Given the description of an element on the screen output the (x, y) to click on. 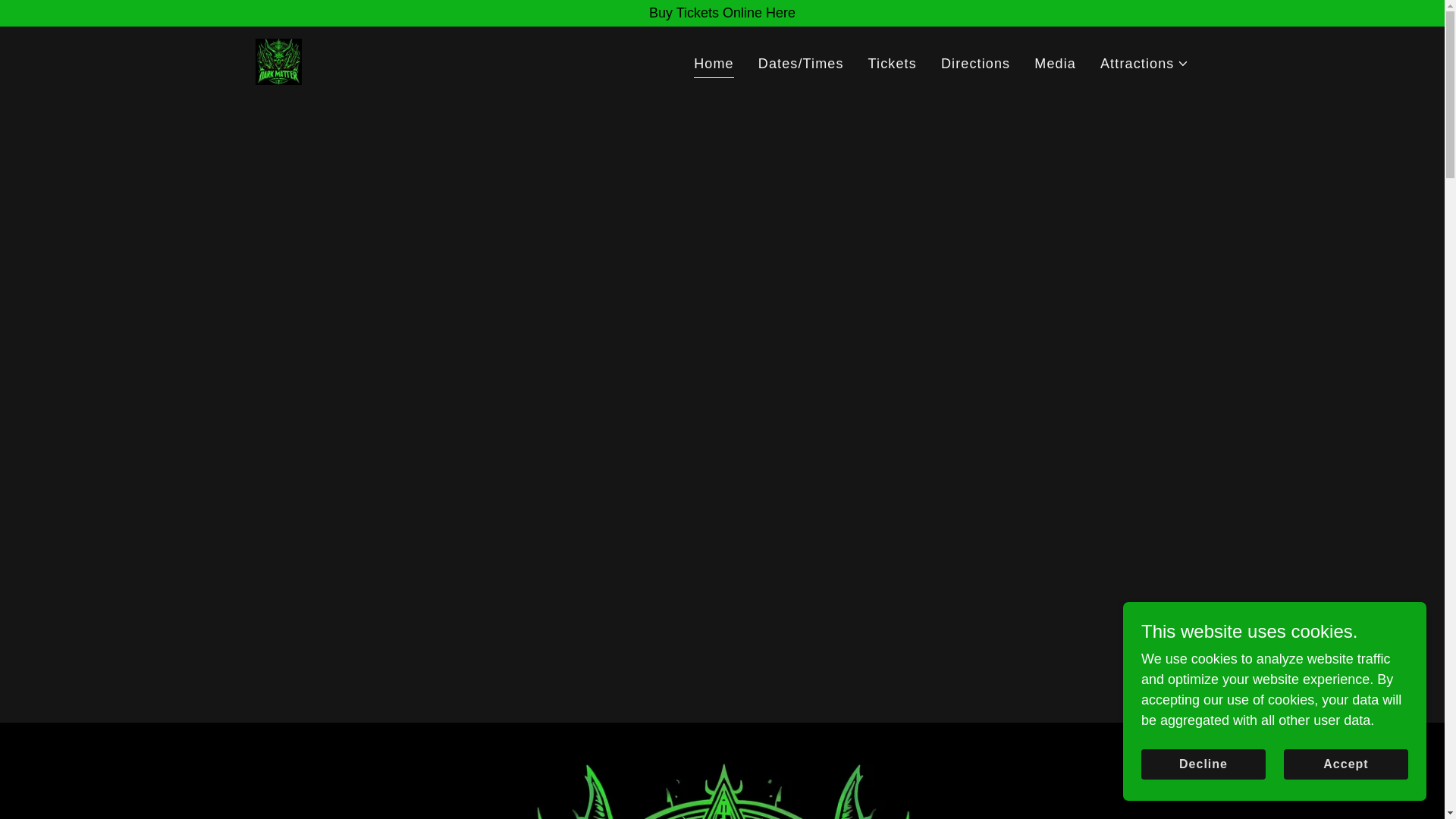
Attractions (1144, 63)
Media (1054, 62)
Dark Matter Scream Works (277, 60)
Directions (975, 62)
Tickets (892, 62)
Home (713, 64)
